Given the description of an element on the screen output the (x, y) to click on. 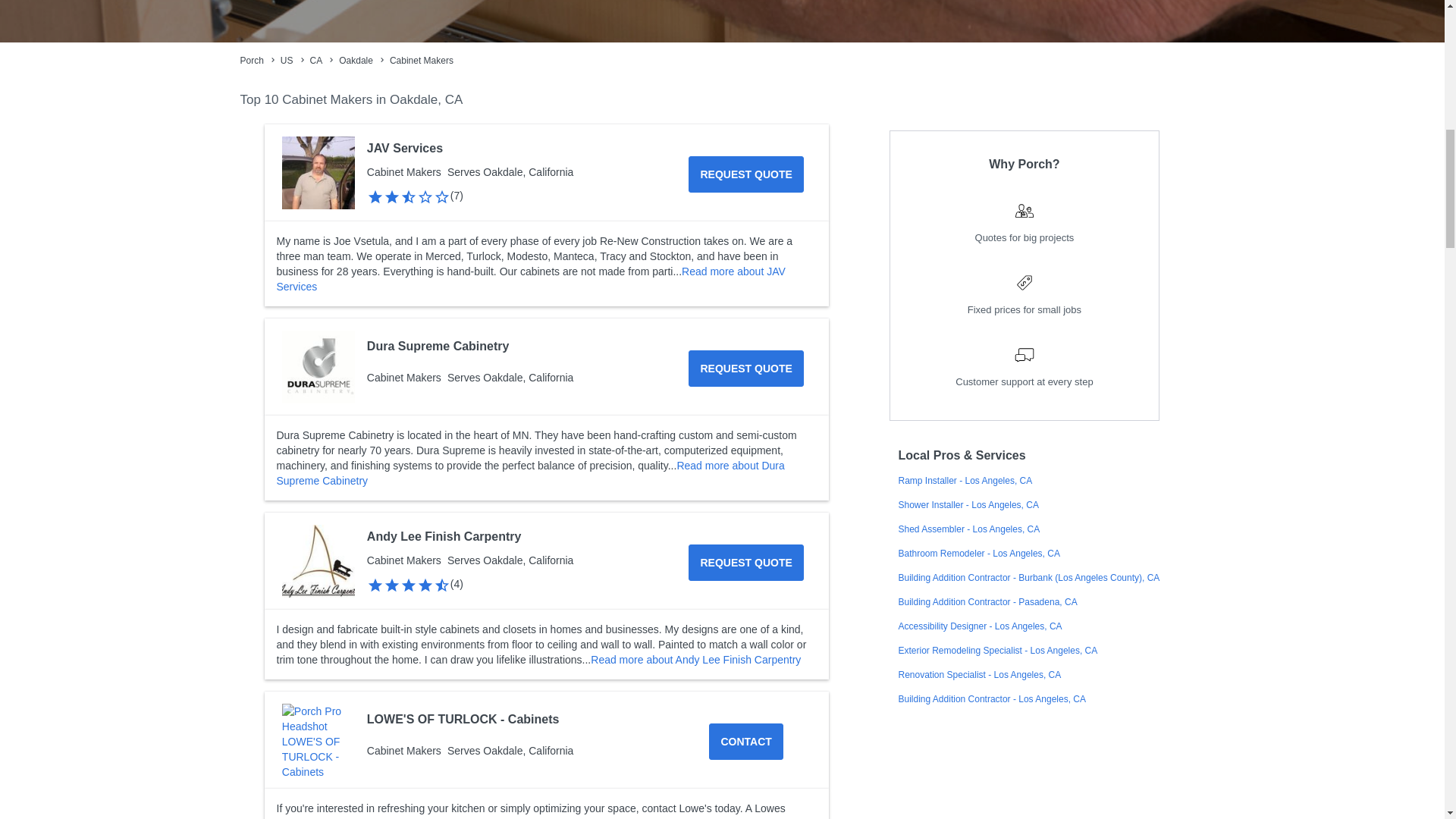
icon-pricing (1024, 282)
